Given the description of an element on the screen output the (x, y) to click on. 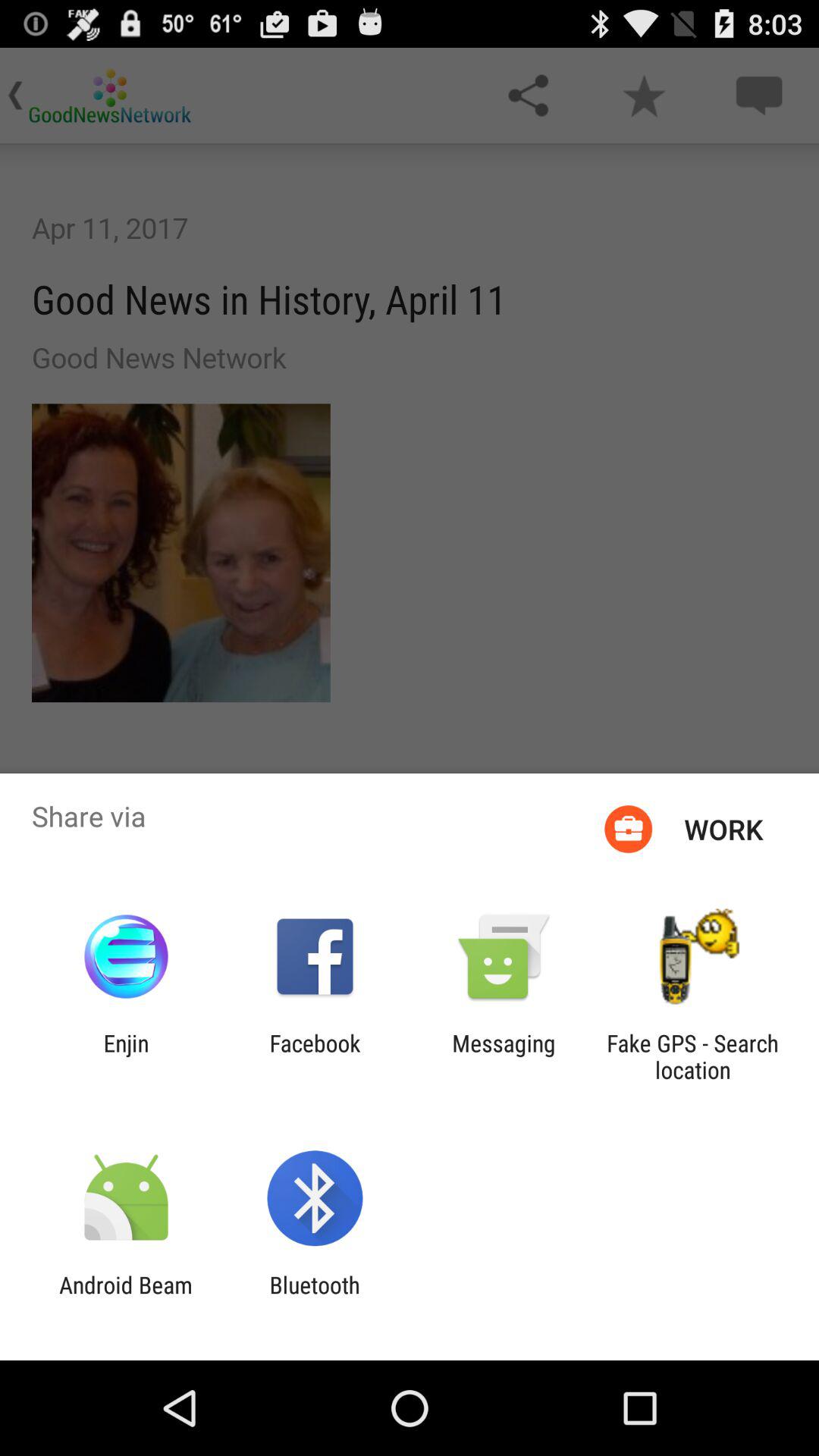
press the android beam (125, 1298)
